Given the description of an element on the screen output the (x, y) to click on. 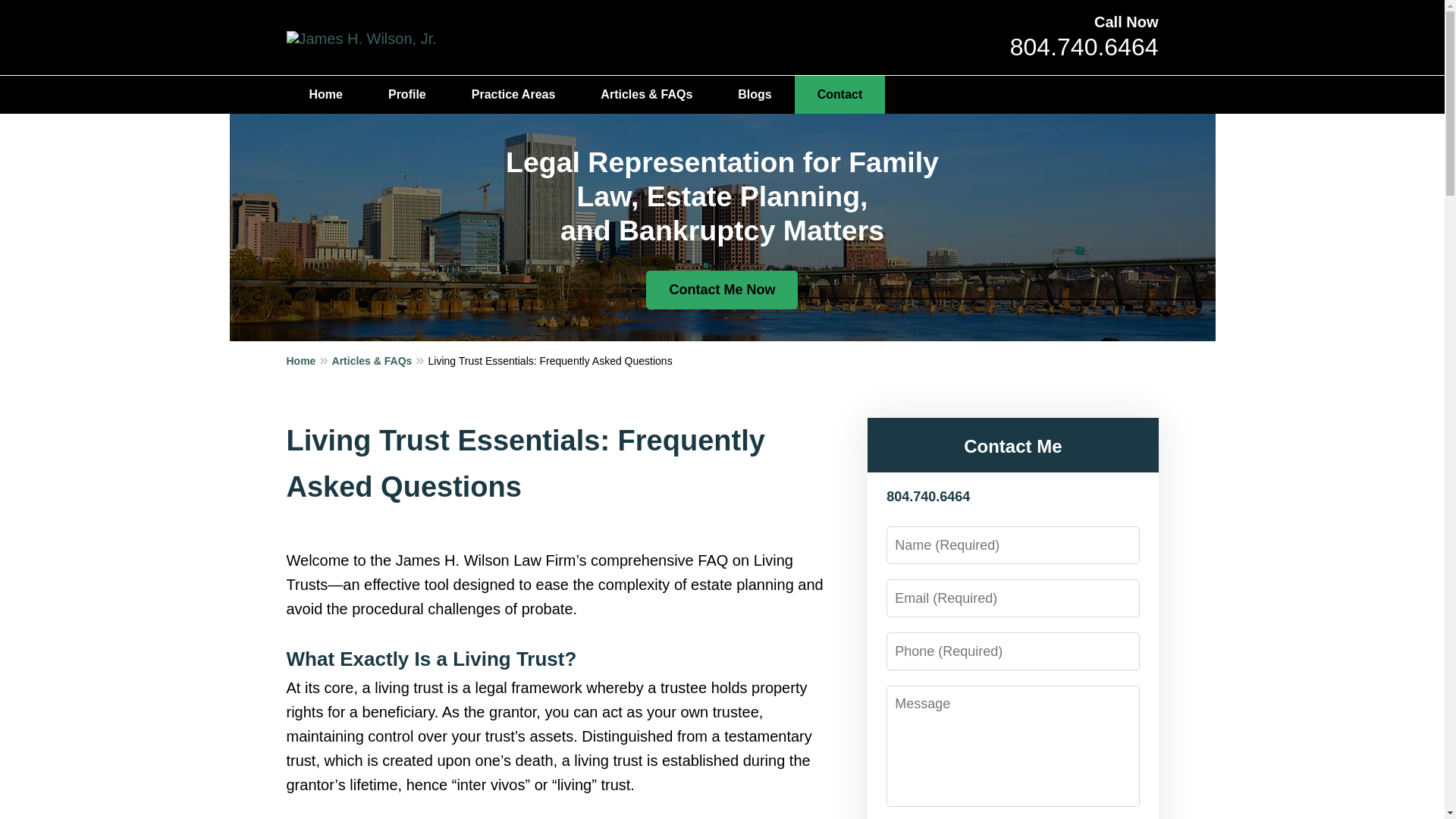
Call Now (1125, 21)
Home (325, 94)
Home (308, 360)
Blogs (753, 94)
Contact Me Now (721, 290)
804.740.6464 (1084, 46)
Contact (839, 94)
Profile (406, 94)
Practice Areas (513, 94)
